Given the description of an element on the screen output the (x, y) to click on. 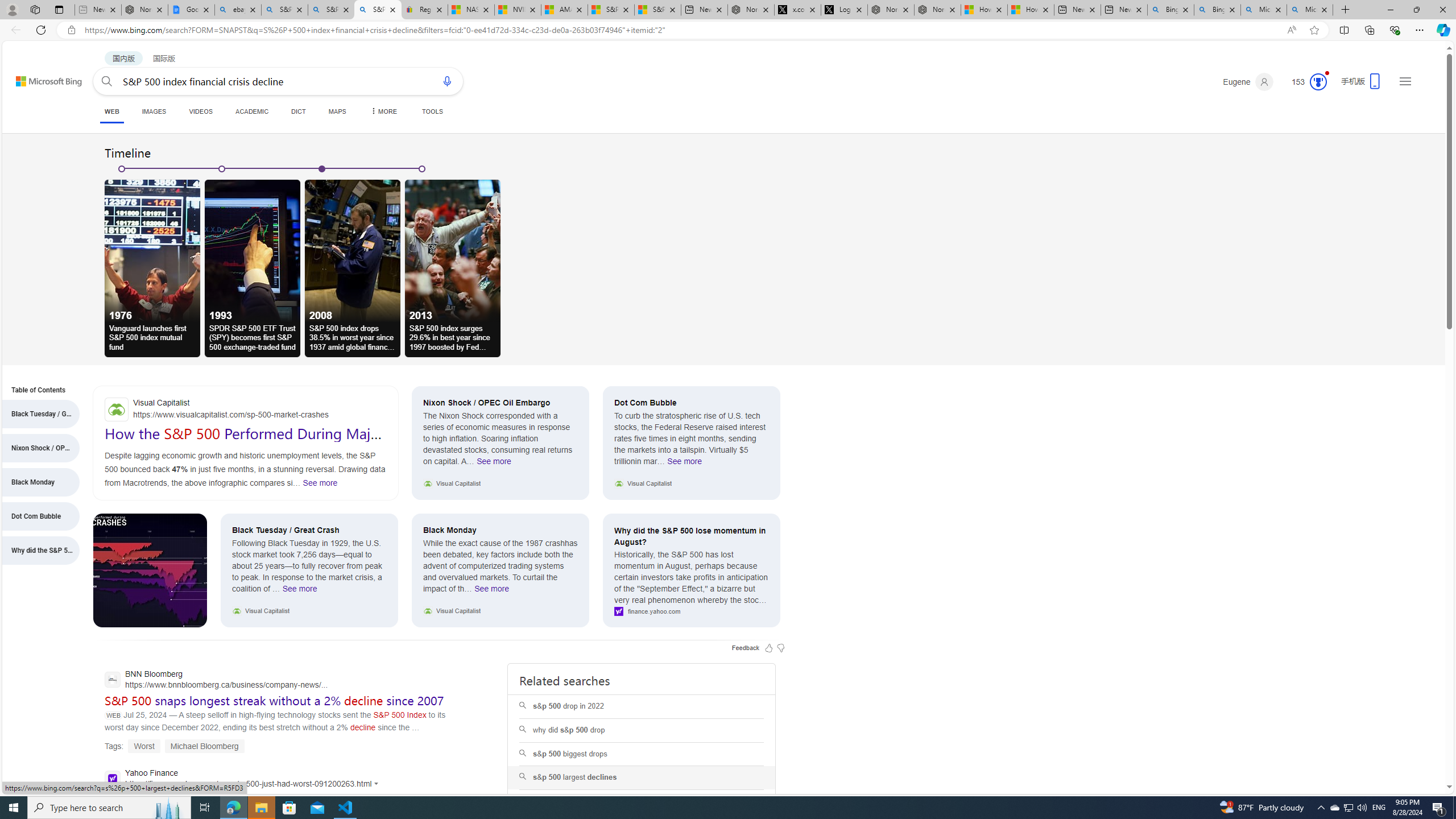
WEB (111, 112)
finance.yahoo.com (691, 611)
why did s&p 500 drop (641, 730)
Eugene (1248, 81)
S&P 500, Nasdaq end lower, weighed by Nvidia dip | Watch (656, 9)
ACADEMIC (252, 111)
MAPS (336, 111)
s&p 500 largest declines (641, 777)
Microsoft Bing Timeline - Search (1309, 9)
Settings and quick links (1404, 80)
2013 (452, 250)
x.com/NordaceOfficial (797, 9)
